Given the description of an element on the screen output the (x, y) to click on. 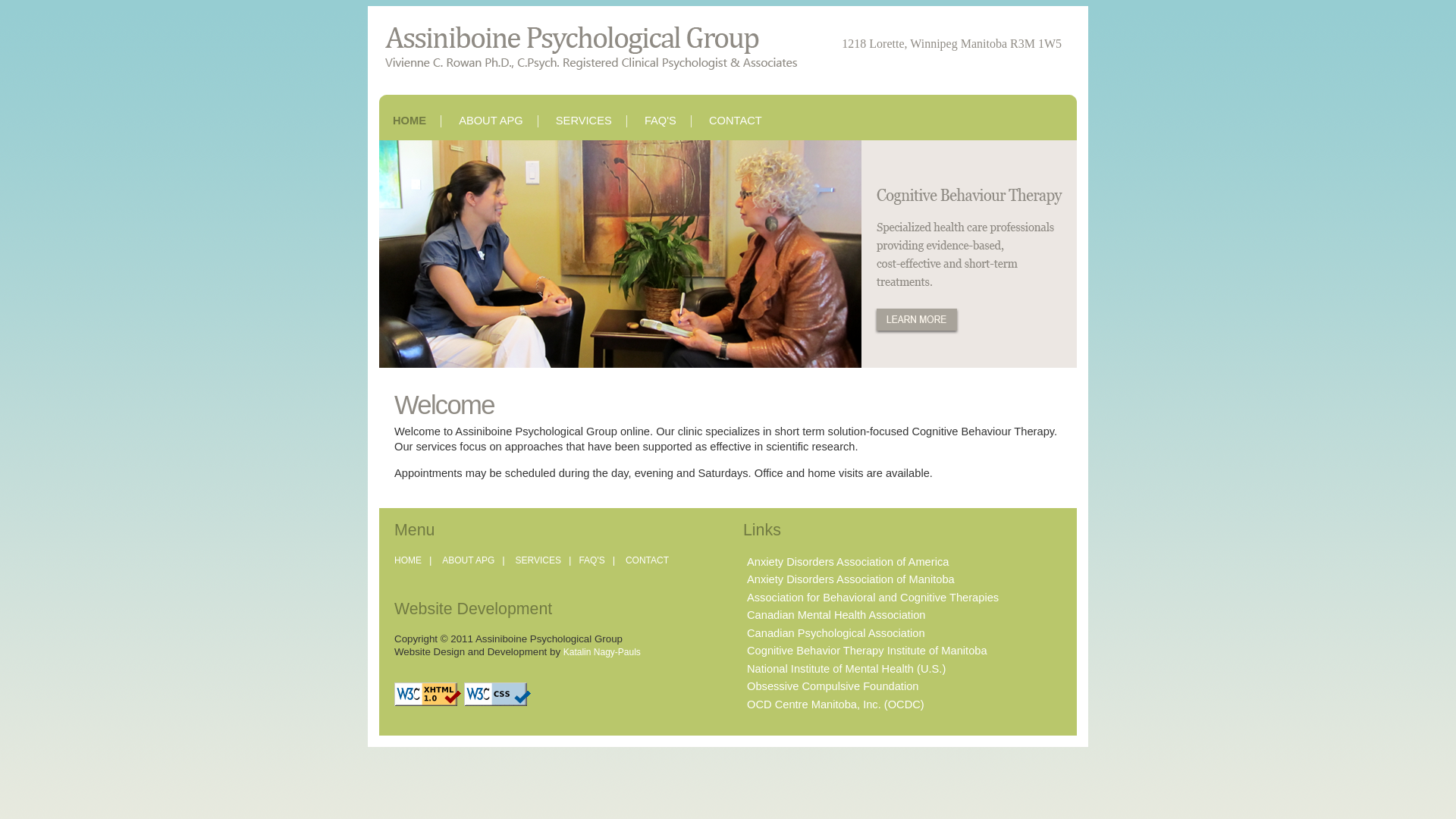
ABOUT APG Element type: text (490, 120)
Anxiety Disorders Association of Manitoba Element type: text (848, 579)
Association for Behavioral and Cognitive Therapies Element type: text (870, 597)
HOME Element type: text (409, 120)
Canadian Psychological Association Element type: text (834, 633)
Katalin Nagy-Pauls Element type: text (601, 651)
FAQ'S Element type: text (591, 560)
HOME Element type: text (407, 560)
National Institute of Mental Health (U.S.) Element type: text (844, 668)
SERVICES Element type: text (537, 560)
Cognitive Behavior Therapy Institute of Manitoba Element type: text (865, 650)
Canadian Mental Health Association Element type: text (834, 614)
Anxiety Disorders Association of America Element type: text (845, 561)
OCD Centre Manitoba, Inc. (OCDC) Element type: text (833, 704)
ABOUT APG Element type: text (468, 560)
FAQ'S Element type: text (660, 120)
CONTACT Element type: text (646, 560)
CONTACT Element type: text (735, 120)
Obsessive Compulsive Foundation Element type: text (830, 686)
SERVICES Element type: text (583, 120)
